Given the description of an element on the screen output the (x, y) to click on. 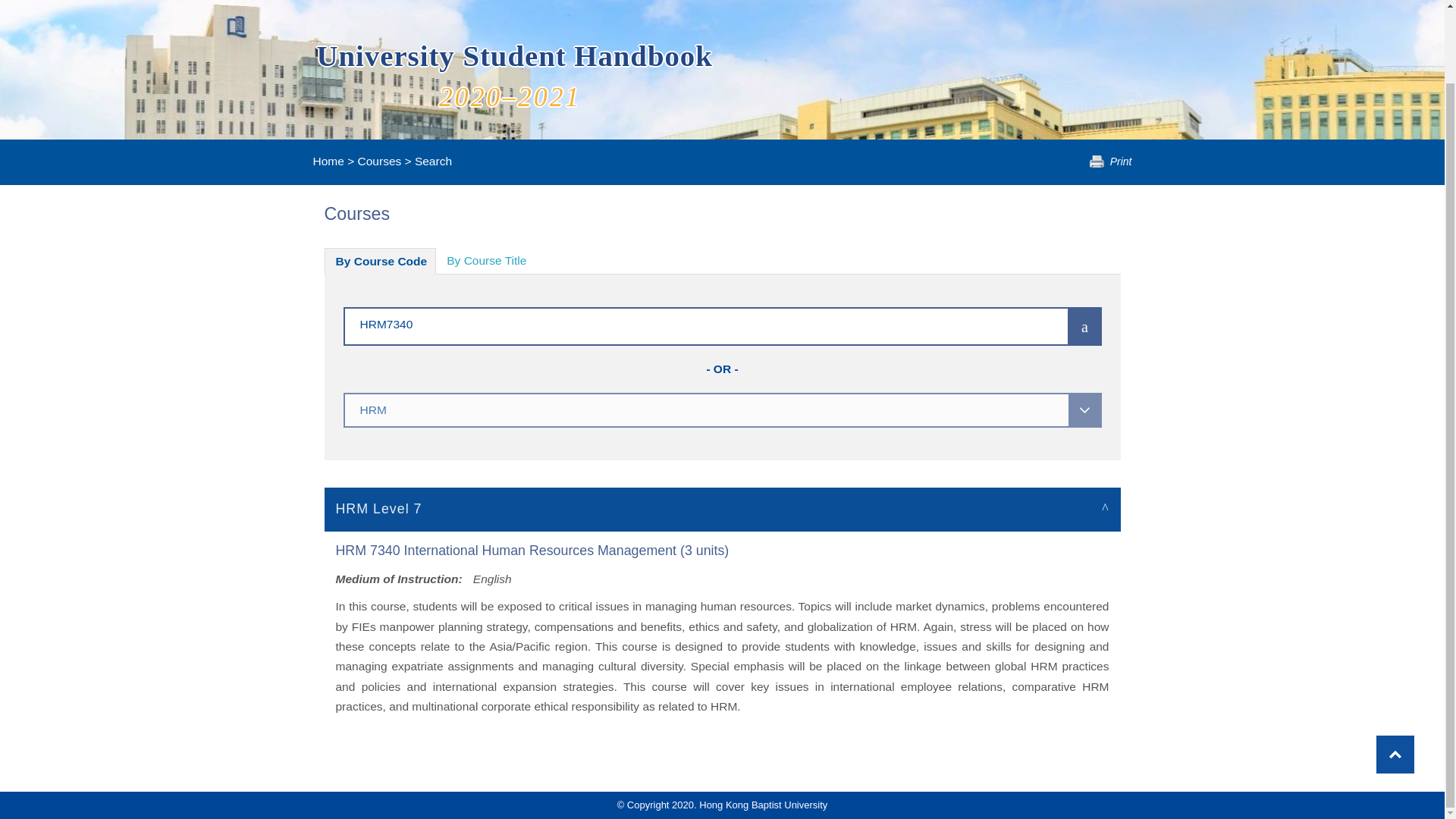
Courses (379, 160)
HRM Level 7 (722, 508)
Scroll To Top (1394, 672)
HRM7340 (683, 322)
Home (328, 160)
Scroll To Top (1394, 672)
By Course Code (381, 261)
Scroll To Top (1394, 672)
Print (1110, 161)
By Course Title (486, 260)
